Given the description of an element on the screen output the (x, y) to click on. 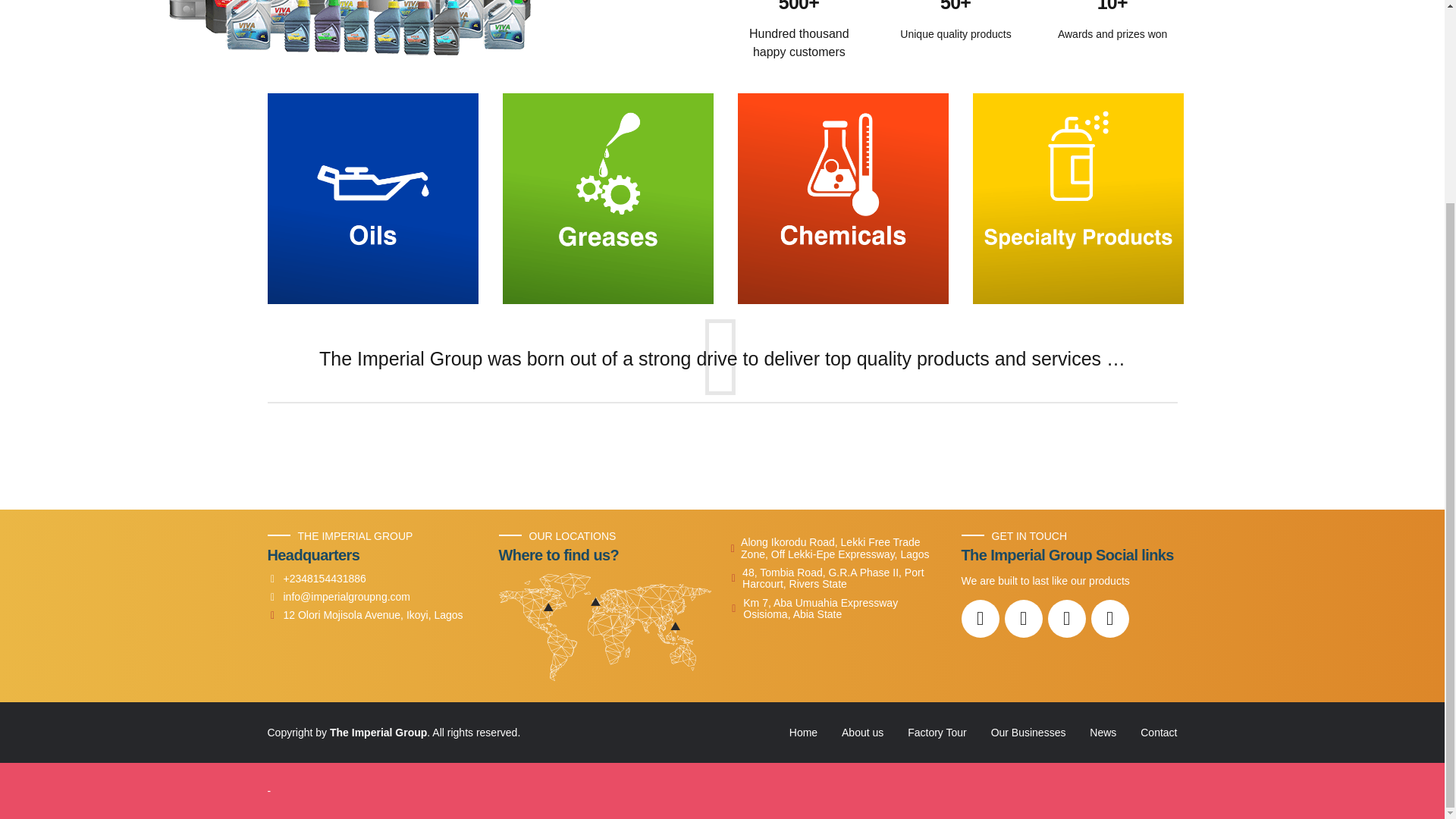
Km 7, Aba Umuahia Expressway Osisioma, Abia State (834, 608)
12 Olori Mojisola Avenue, Ikoyi, Lagos (364, 614)
5-2 (358, 27)
img-footer-map (605, 626)
12 Olori Mojisola Avenue, Ikoyi, Lagos (364, 614)
s4 (1077, 198)
 Km 7, Aba Umuahia Expressway Osisioma, Abia State (834, 608)
48, Tombia Road, G.R.A Phase II, Port Harcourt, Rivers State (834, 578)
s1 (371, 198)
48, Tombia Road, G.R.A Phase II, Port Harcourt, Rivers State (834, 578)
s2 (607, 198)
s3 (841, 198)
